Given the description of an element on the screen output the (x, y) to click on. 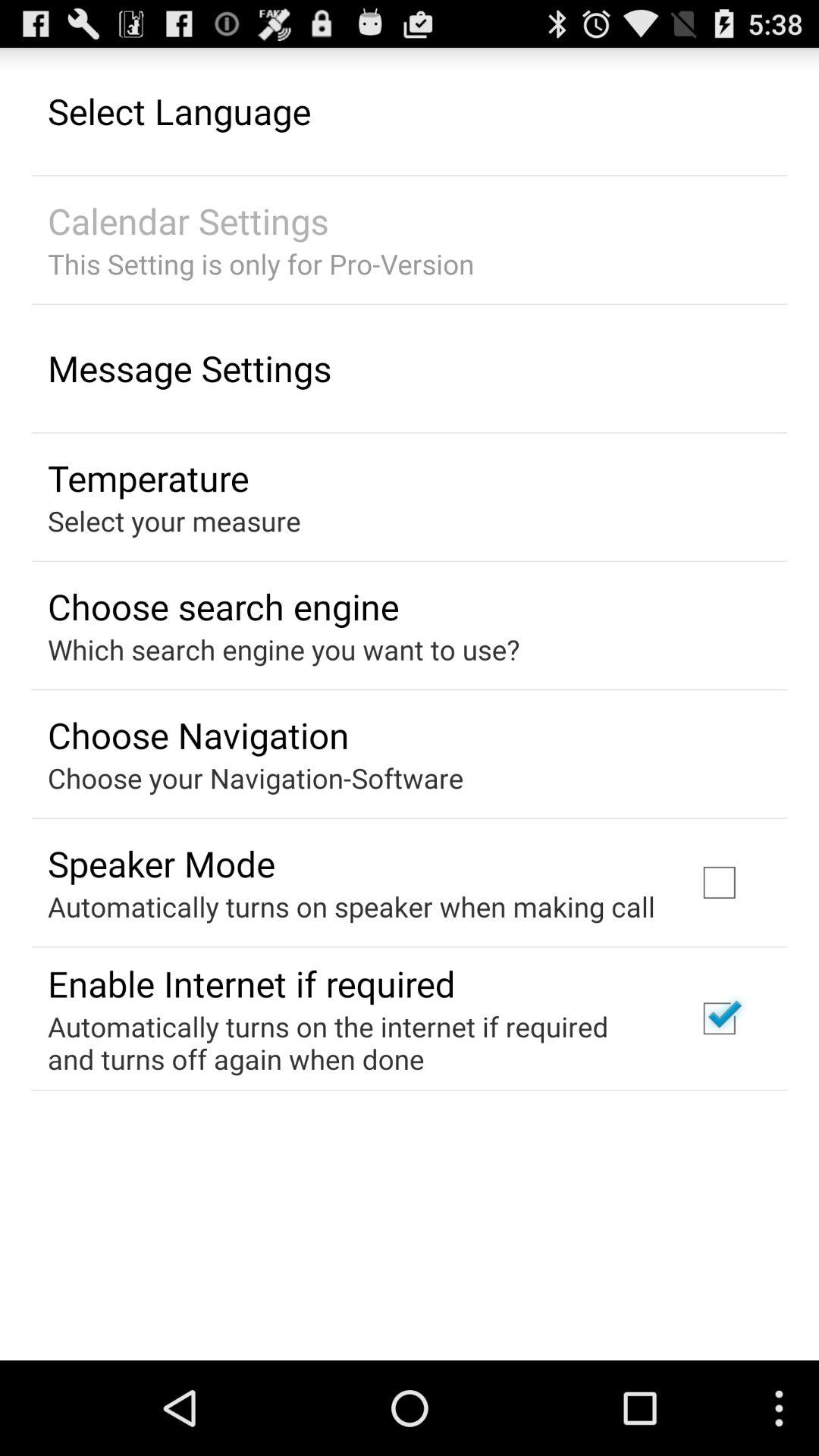
turn off the message settings item (189, 368)
